Given the description of an element on the screen output the (x, y) to click on. 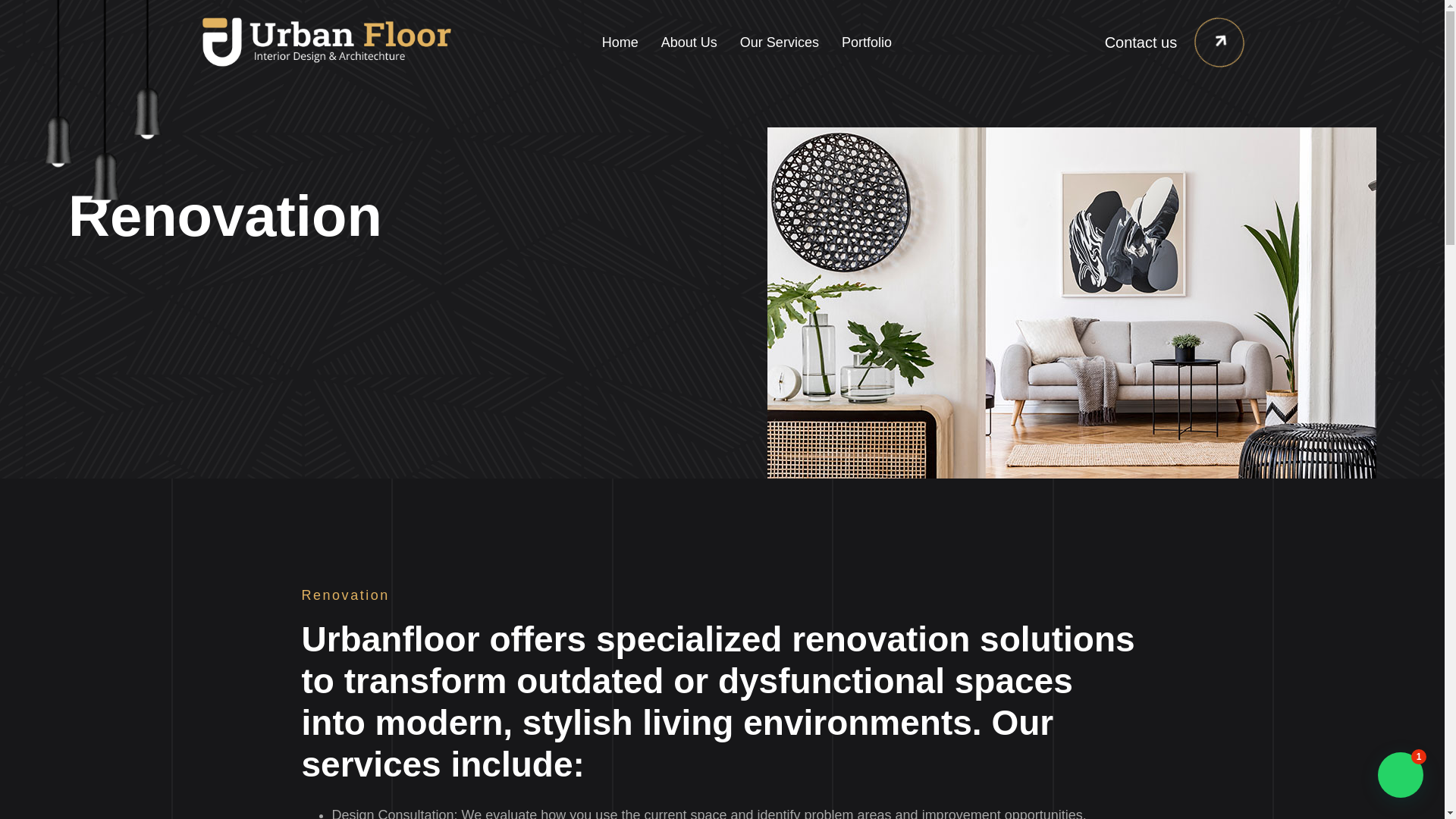
Portfolio (866, 42)
Home (620, 42)
Contact us (1150, 42)
Our Services (778, 42)
About Us (689, 42)
